Given the description of an element on the screen output the (x, y) to click on. 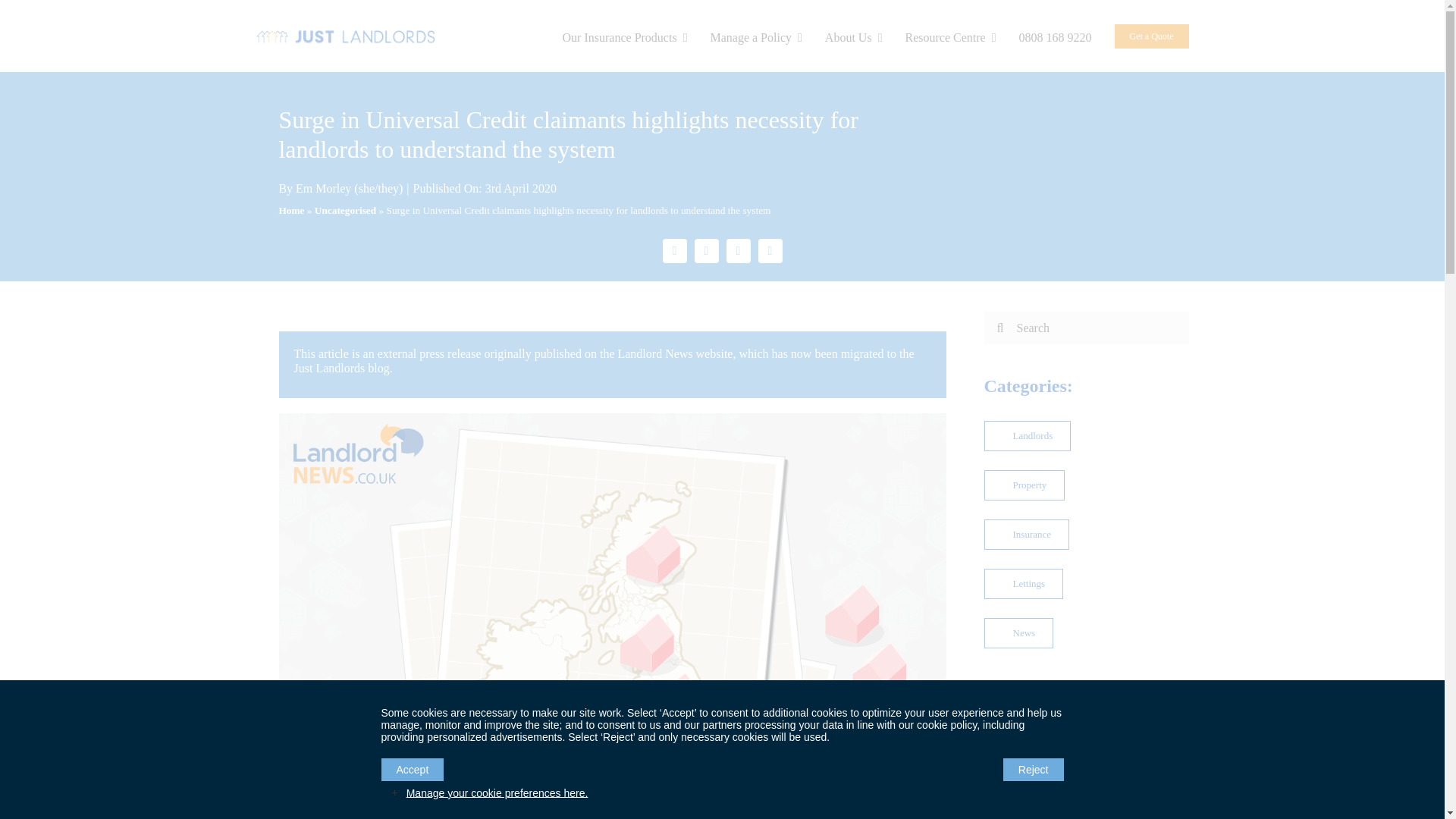
Products (624, 36)
Our Insurance Products (624, 36)
Manage a Policy (756, 36)
Manage a Policy (756, 36)
